Given the description of an element on the screen output the (x, y) to click on. 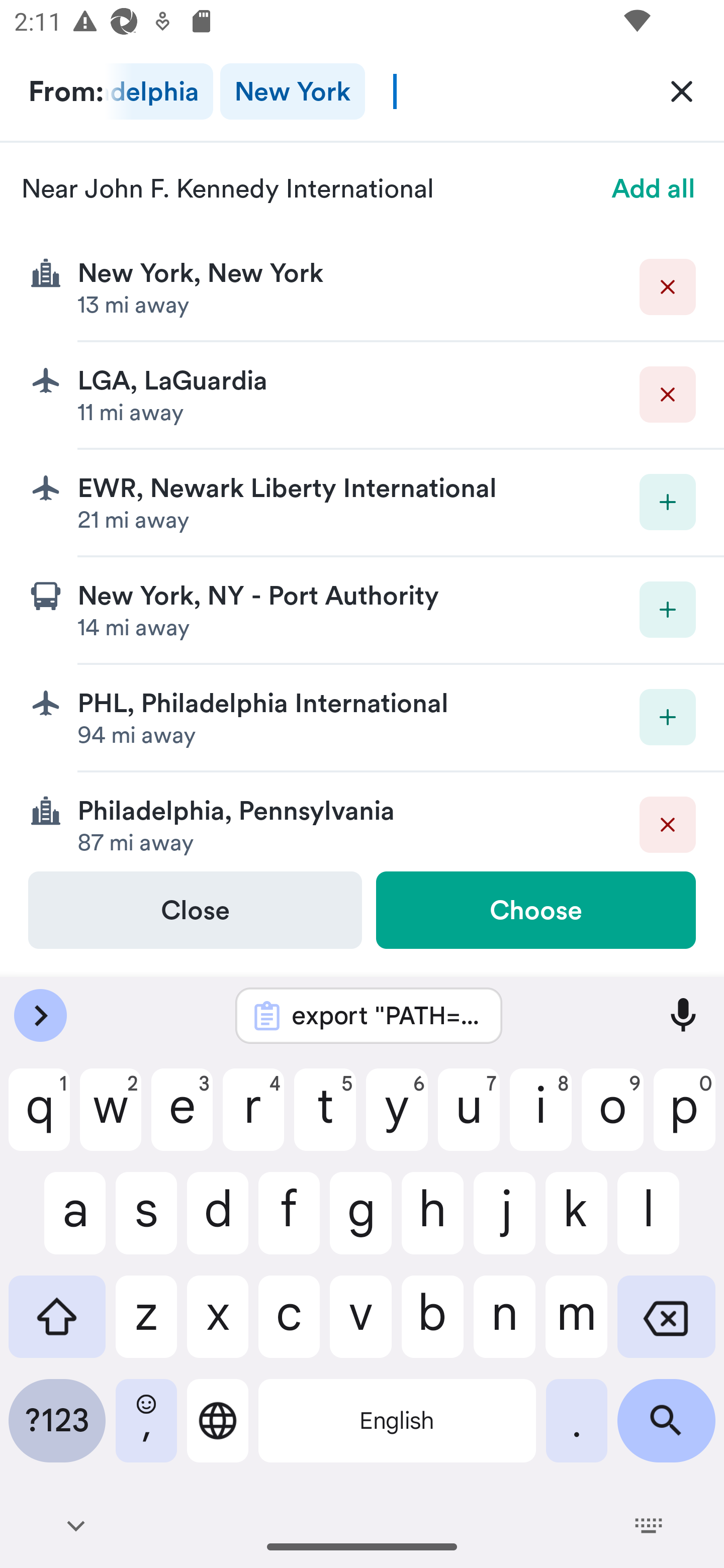
Clear All (681, 90)
Philadelphia (158, 91)
New York (292, 91)
Add all (653, 187)
Delete New York, New York 13 mi away (362, 287)
Delete (667, 286)
Delete LGA, LaGuardia 11 mi away (362, 395)
Delete (667, 394)
Add destination (667, 501)
Add destination (667, 609)
Add destination (667, 716)
Delete Philadelphia, Pennsylvania 87 mi away (362, 821)
Delete (667, 824)
Close (195, 909)
Choose (535, 909)
